Given the description of an element on the screen output the (x, y) to click on. 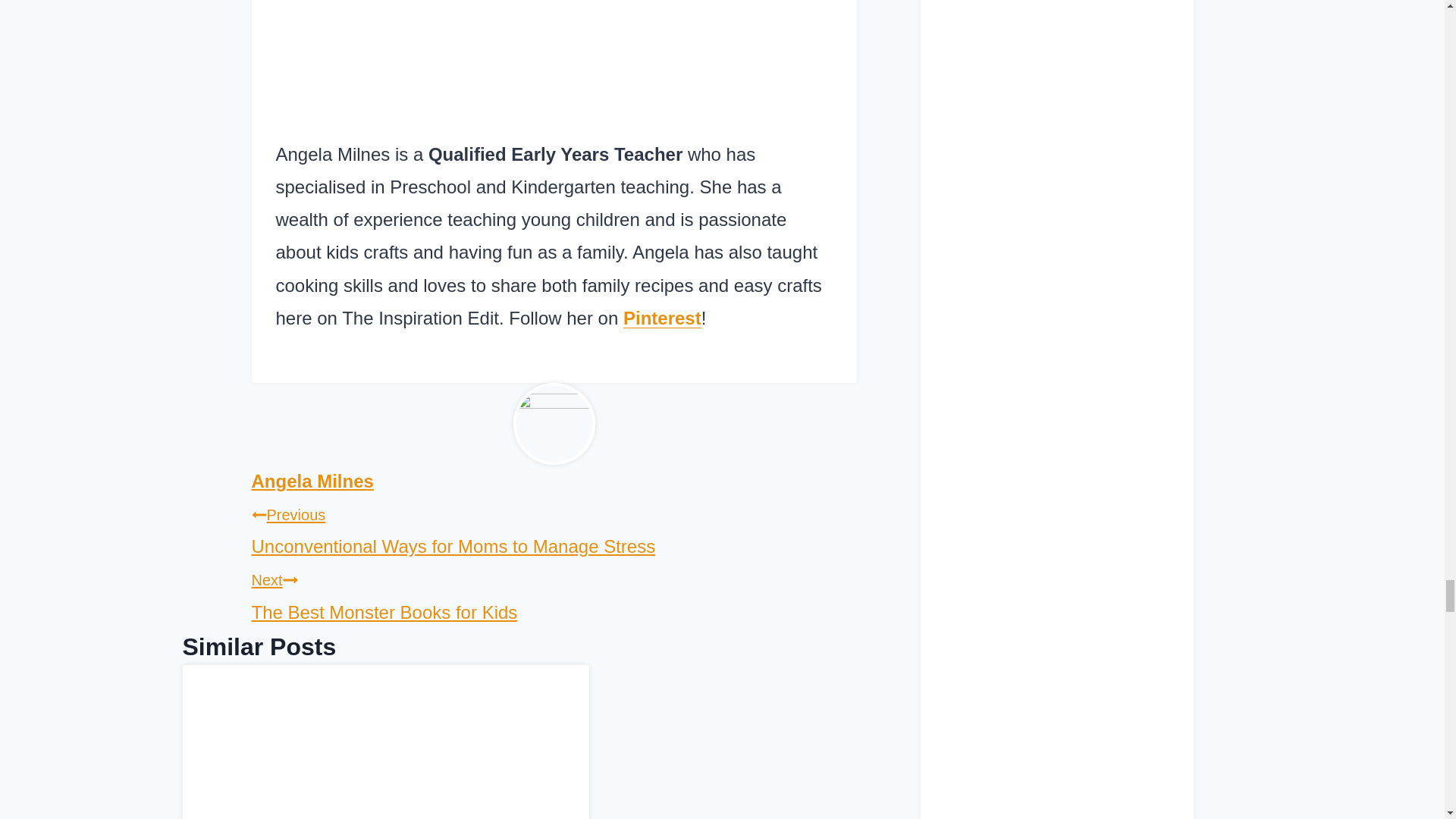
Posts by Angela Milnes (312, 480)
